Given the description of an element on the screen output the (x, y) to click on. 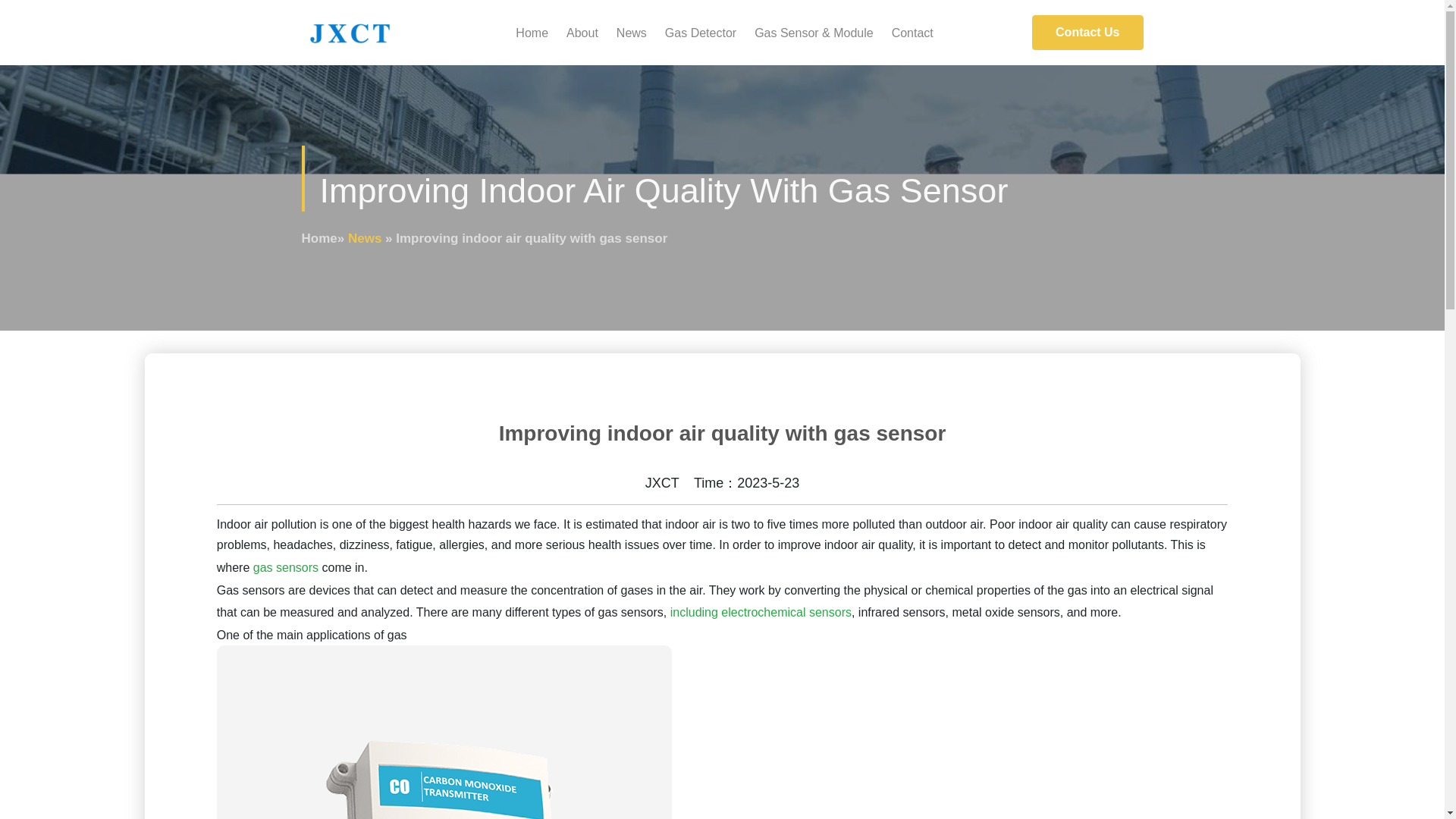
Home (531, 31)
News (631, 31)
News (364, 237)
gas sensors (285, 567)
including electrochemical sensors (760, 612)
Contact Us (1087, 32)
Gas Detector (700, 31)
About (582, 31)
Contact (912, 31)
